Given the description of an element on the screen output the (x, y) to click on. 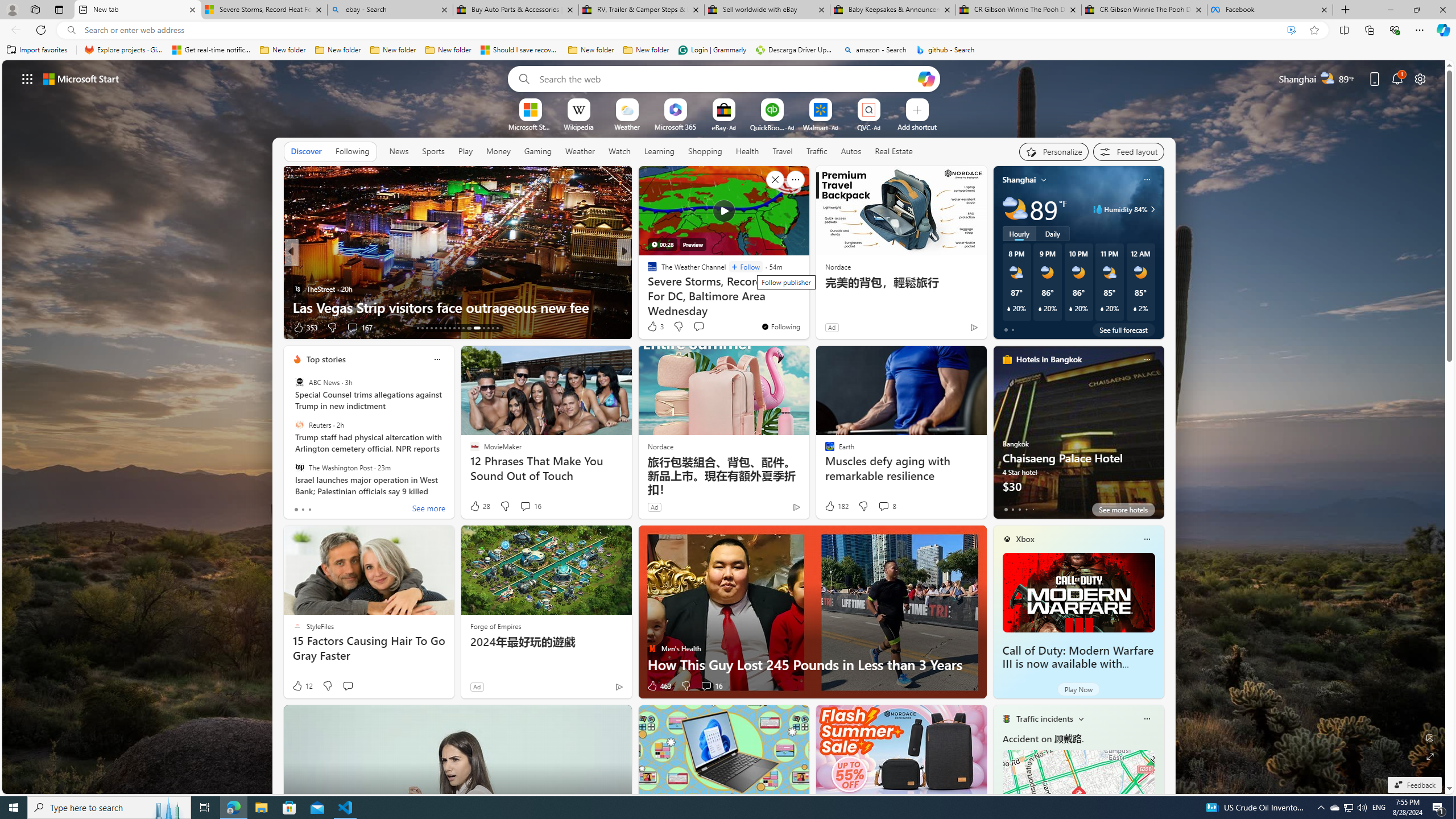
Change scenarios (1080, 718)
The History of the Windows Start Menu (807, 307)
Travel (782, 151)
View comments 167 Comment (352, 327)
AutomationID: tab-14 (422, 328)
Money (498, 151)
Watch (619, 151)
tab-4 (1032, 509)
See full forecast (1123, 329)
Shopping (705, 151)
